Given the description of an element on the screen output the (x, y) to click on. 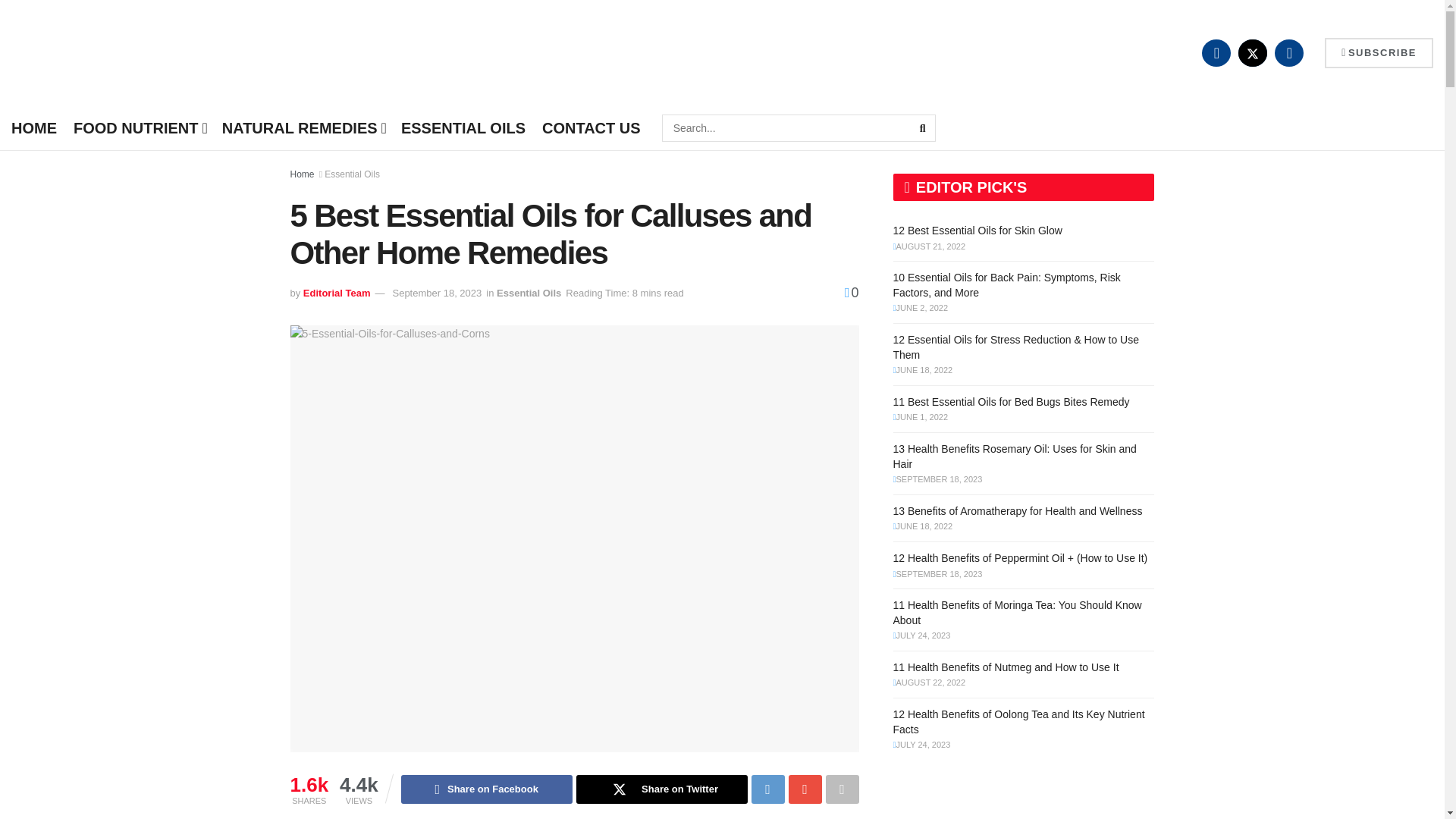
ESSENTIAL OILS (463, 127)
Editorial Team (336, 292)
HOME (33, 127)
SUBSCRIBE (1378, 52)
Home (301, 173)
September 18, 2023 (436, 292)
Essential Oils (352, 173)
Share on Facebook (486, 788)
FOOD NUTRIENT (139, 127)
NATURALLY DAILY (110, 52)
0 (851, 292)
Share on Twitter (662, 788)
CONTACT US (590, 127)
Essential Oils (528, 292)
NATURAL REMEDIES (303, 127)
